Given the description of an element on the screen output the (x, y) to click on. 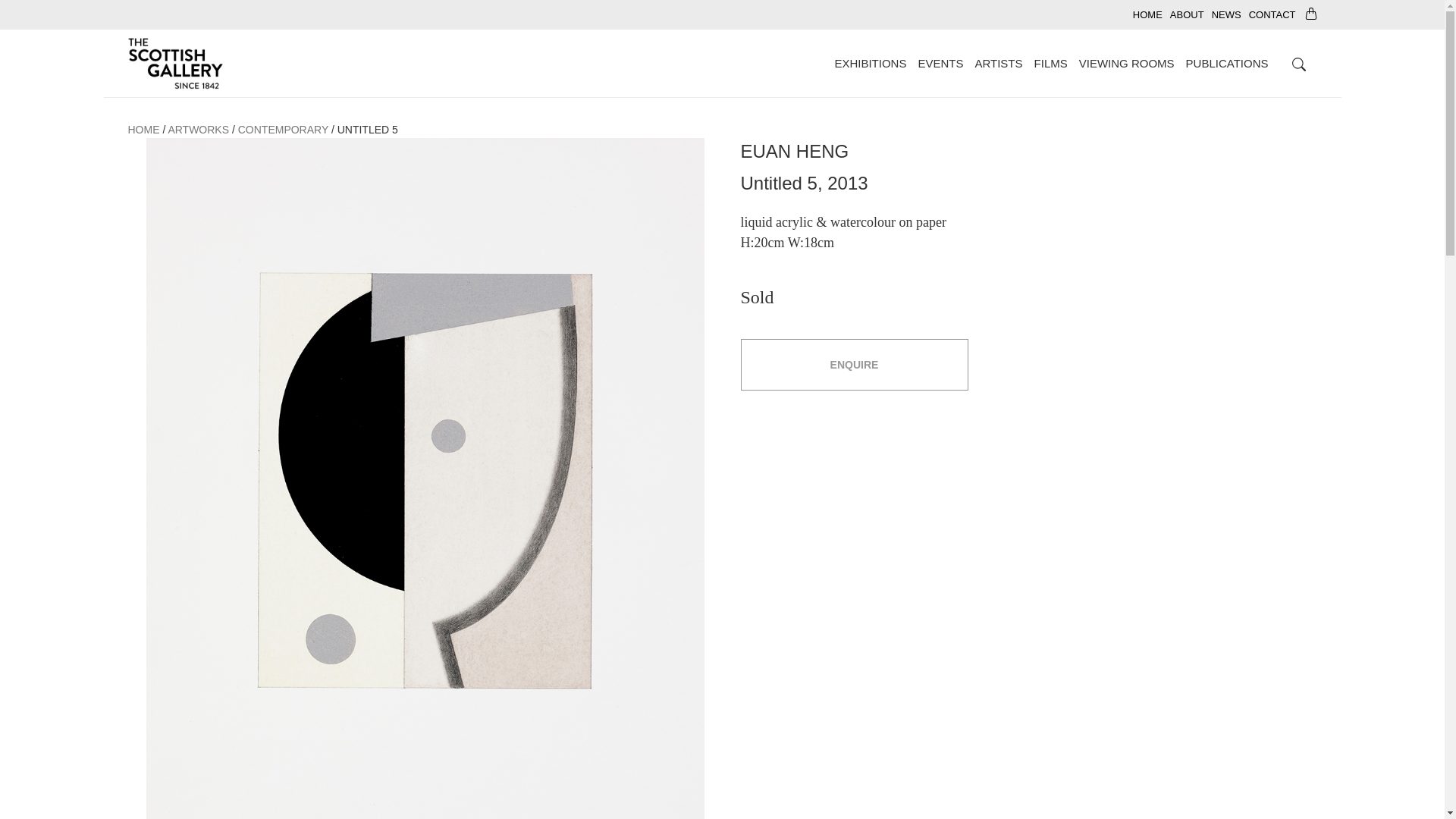
CONTEMPORARY (283, 128)
EXHIBITIONS (869, 62)
ENQUIRE (853, 364)
Euan Heng (793, 150)
ARTWORKS (197, 128)
HOME (143, 128)
FILMS (1050, 62)
ABOUT (1187, 14)
NEWS (1226, 14)
PUBLICATIONS (1227, 62)
ARTISTS (998, 62)
CONTACT (1272, 14)
VIEWING ROOMS (1126, 62)
EVENTS (939, 62)
